Given the description of an element on the screen output the (x, y) to click on. 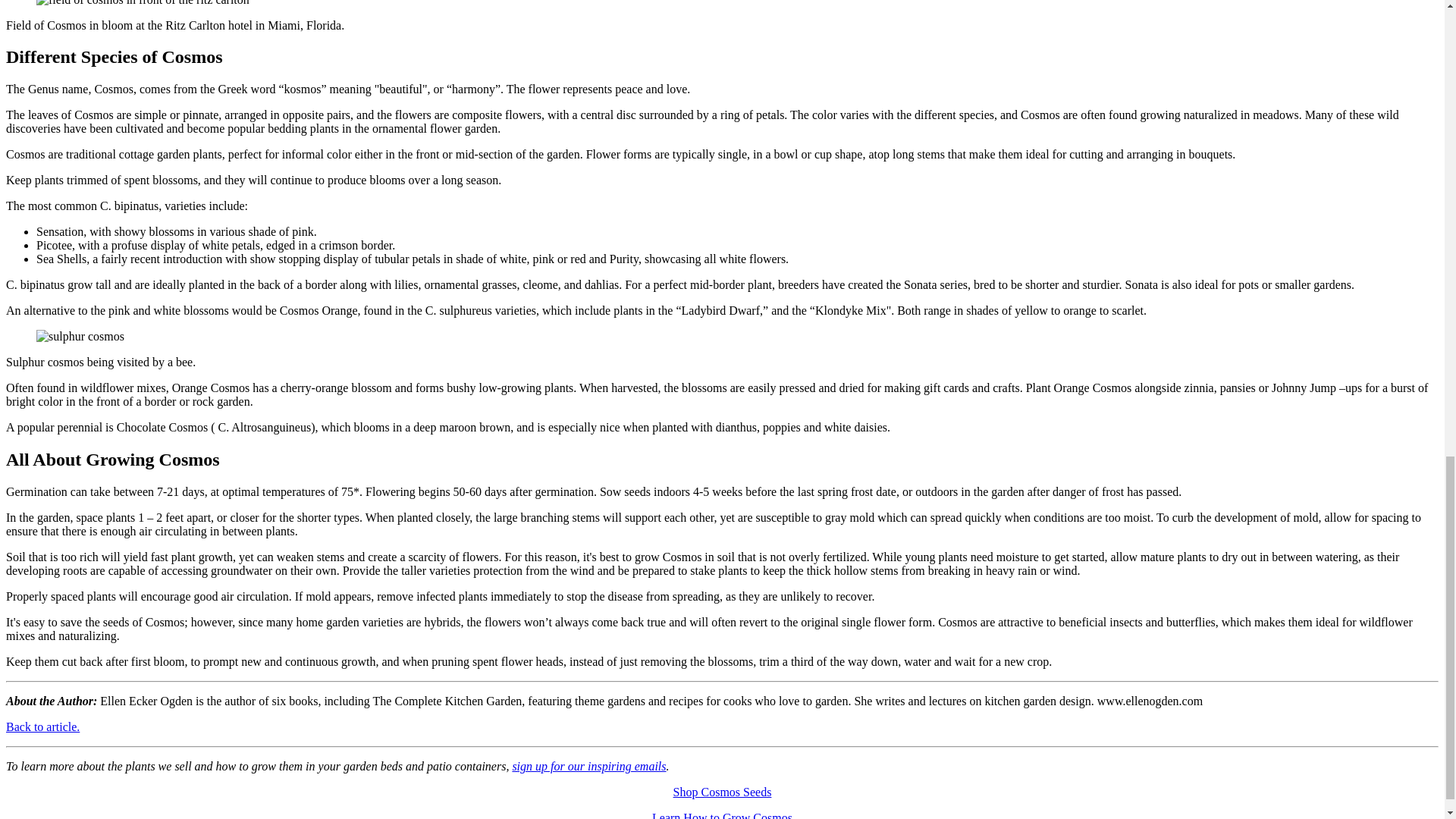
Back to article. (42, 726)
Shop Cosmos Seeds (721, 791)
sign up for our inspiring emails (588, 766)
